Given the description of an element on the screen output the (x, y) to click on. 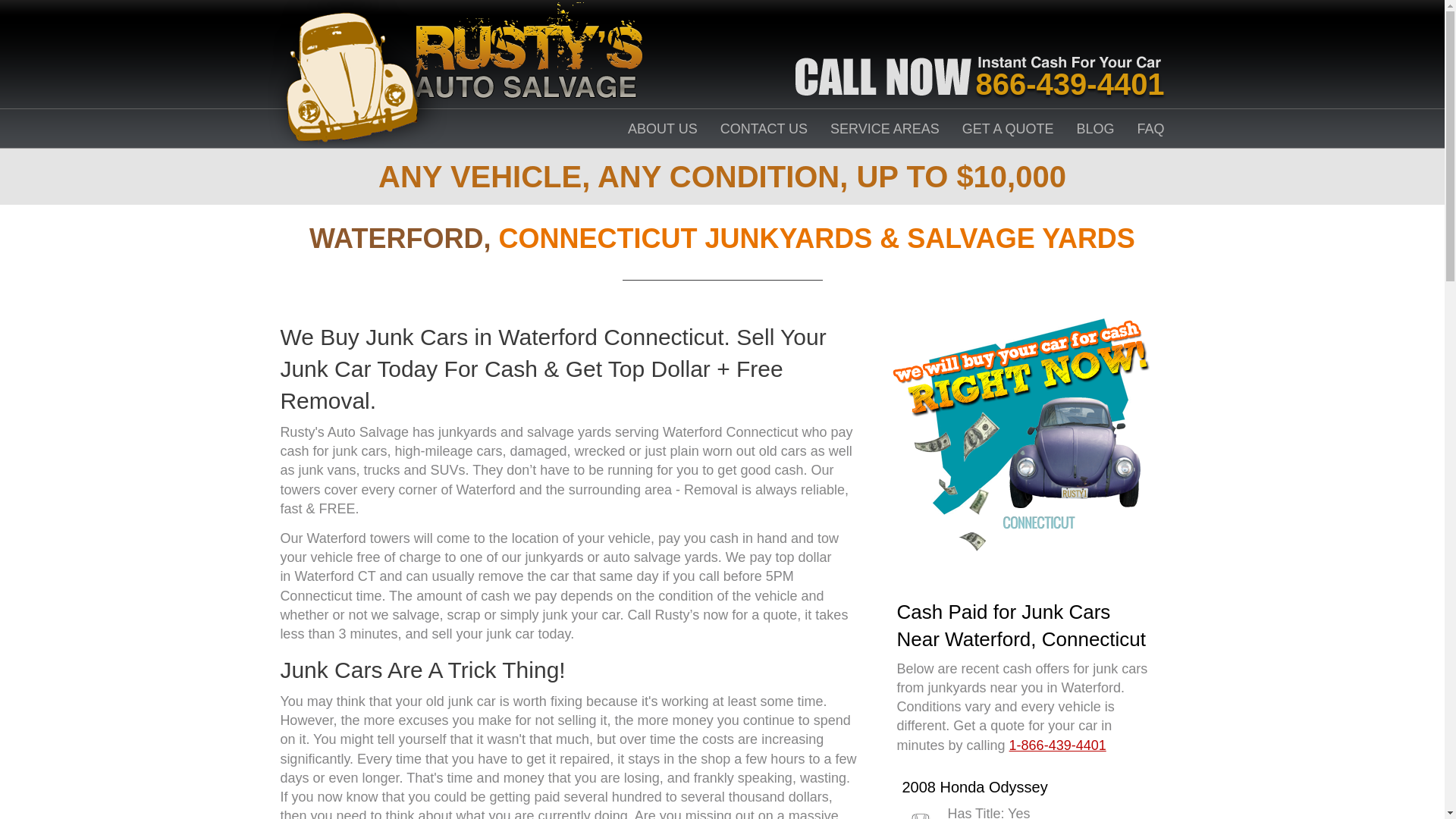
GET A QUOTE (1008, 128)
866-439-4401 (1069, 83)
1-866-439-4401 (1057, 744)
ABOUT US (662, 128)
SERVICE AREAS (884, 128)
CONTACT US (764, 128)
BLOG (1096, 128)
FAQ (1150, 128)
